Given the description of an element on the screen output the (x, y) to click on. 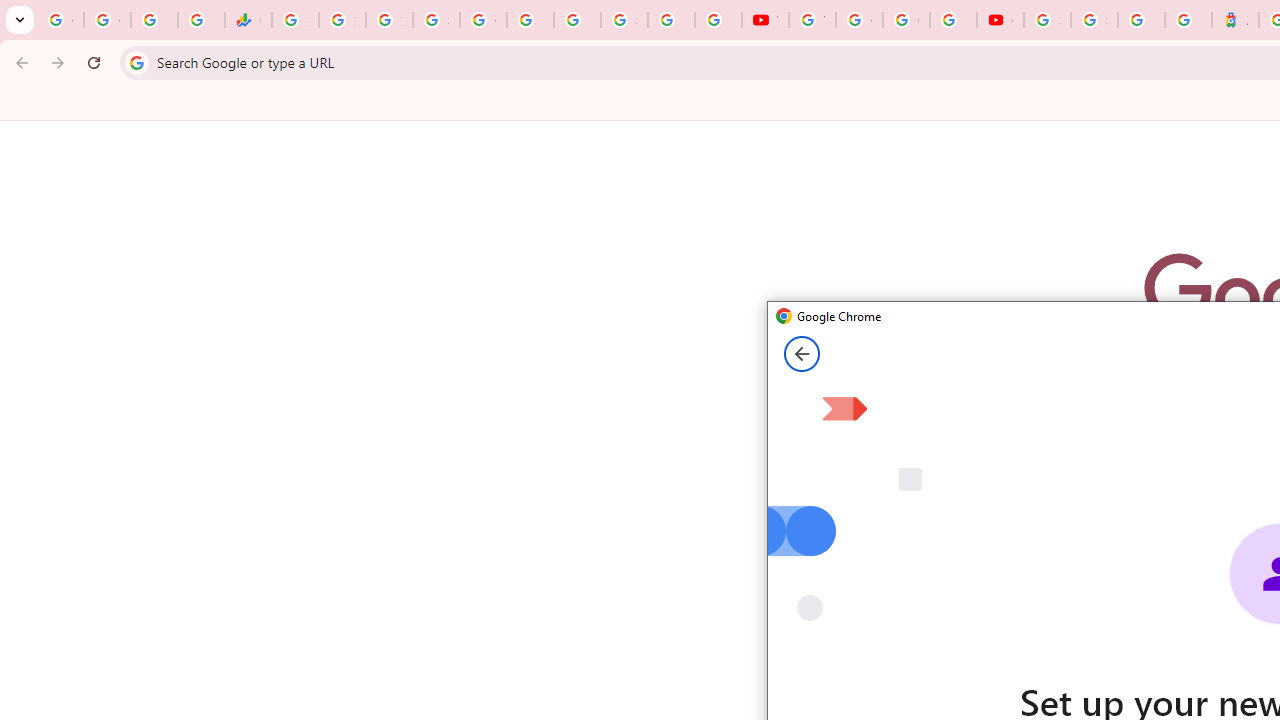
Sign in - Google Accounts (1047, 20)
Sign in - Google Accounts (1094, 20)
Privacy Checkup (718, 20)
Back from Set up your new Chrome profile page (801, 354)
